Given the description of an element on the screen output the (x, y) to click on. 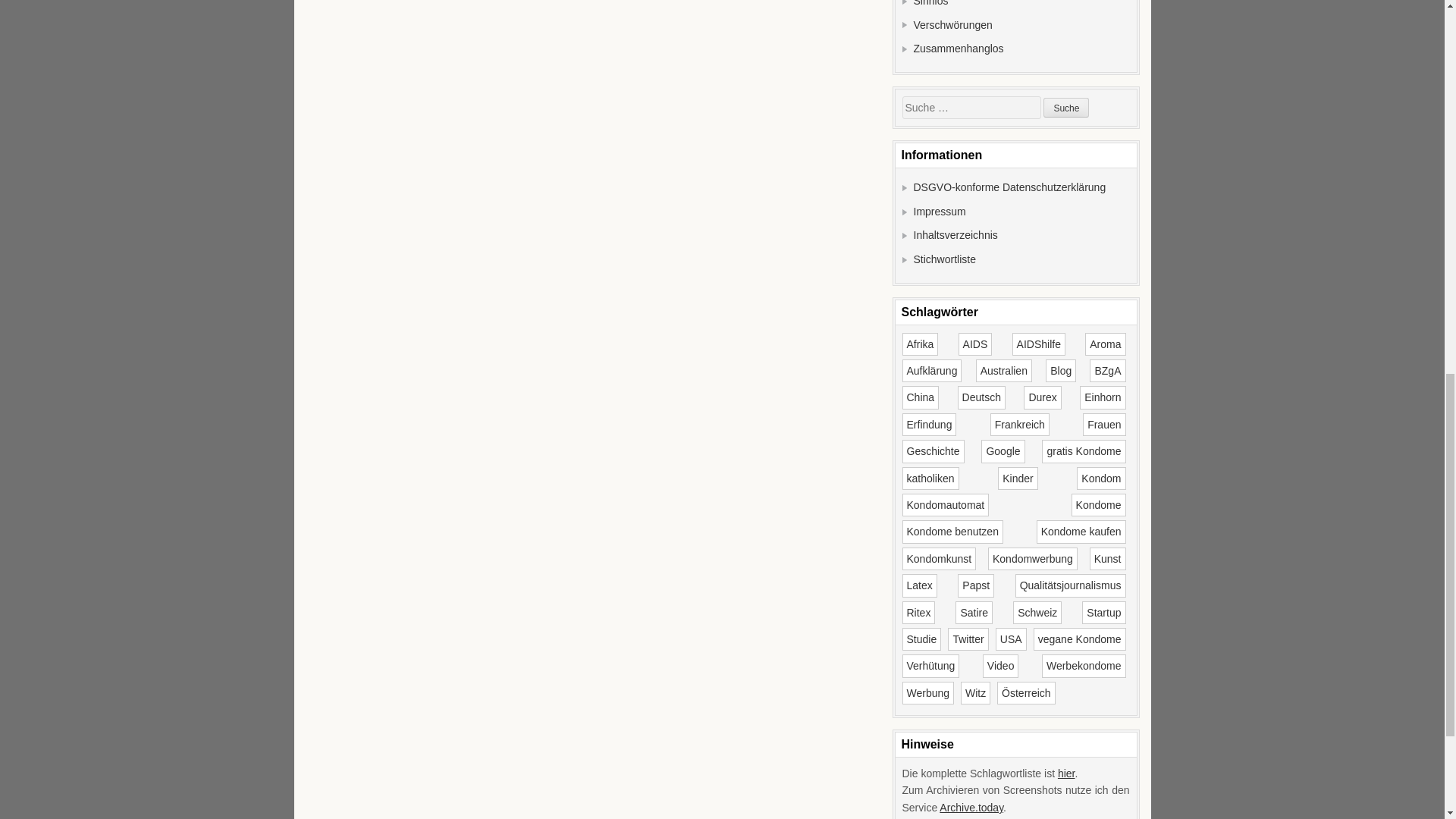
Zusammenhanglos (957, 48)
Suche (1066, 107)
Suche (1066, 107)
Suche (1066, 107)
Sinnlos (929, 3)
